Given the description of an element on the screen output the (x, y) to click on. 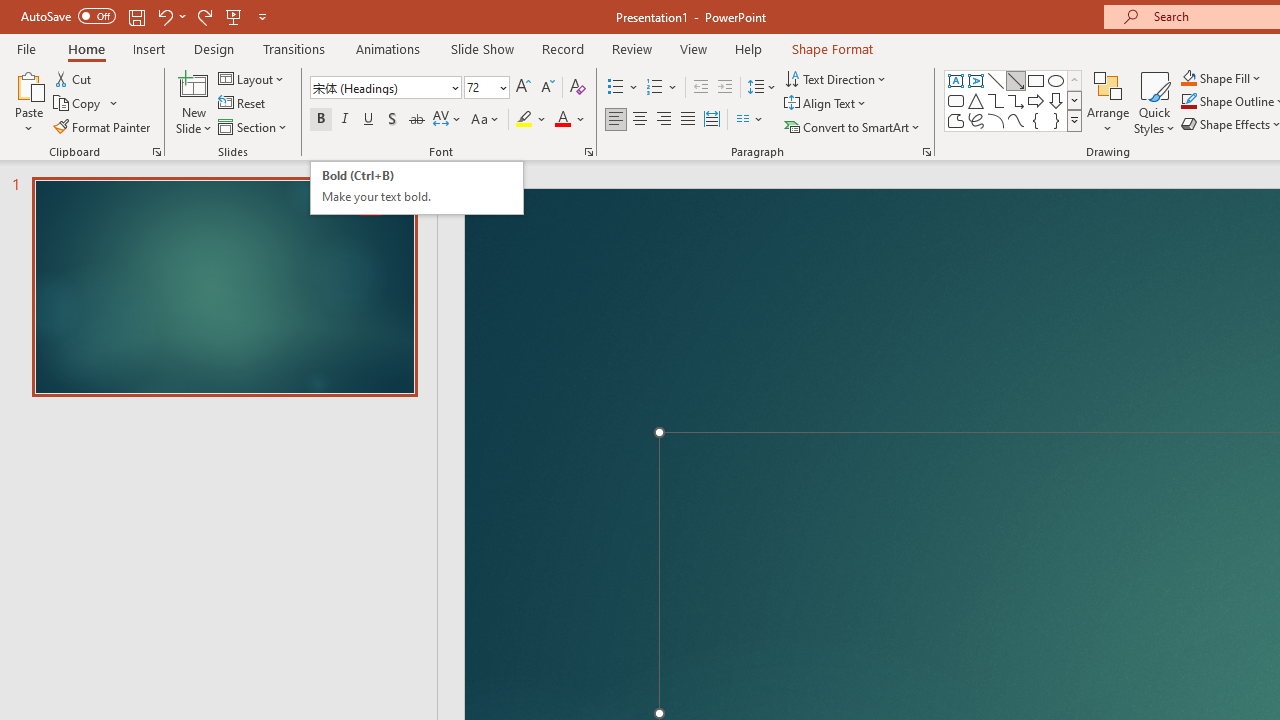
Line Arrow (1016, 80)
Shadow (392, 119)
Arrow: Down (1055, 100)
Quick Styles (1154, 102)
Line (416, 188)
Freeform: Shape (995, 80)
Copy (955, 120)
Bullets (85, 103)
Layout (616, 87)
Character Spacing (252, 78)
